Given the description of an element on the screen output the (x, y) to click on. 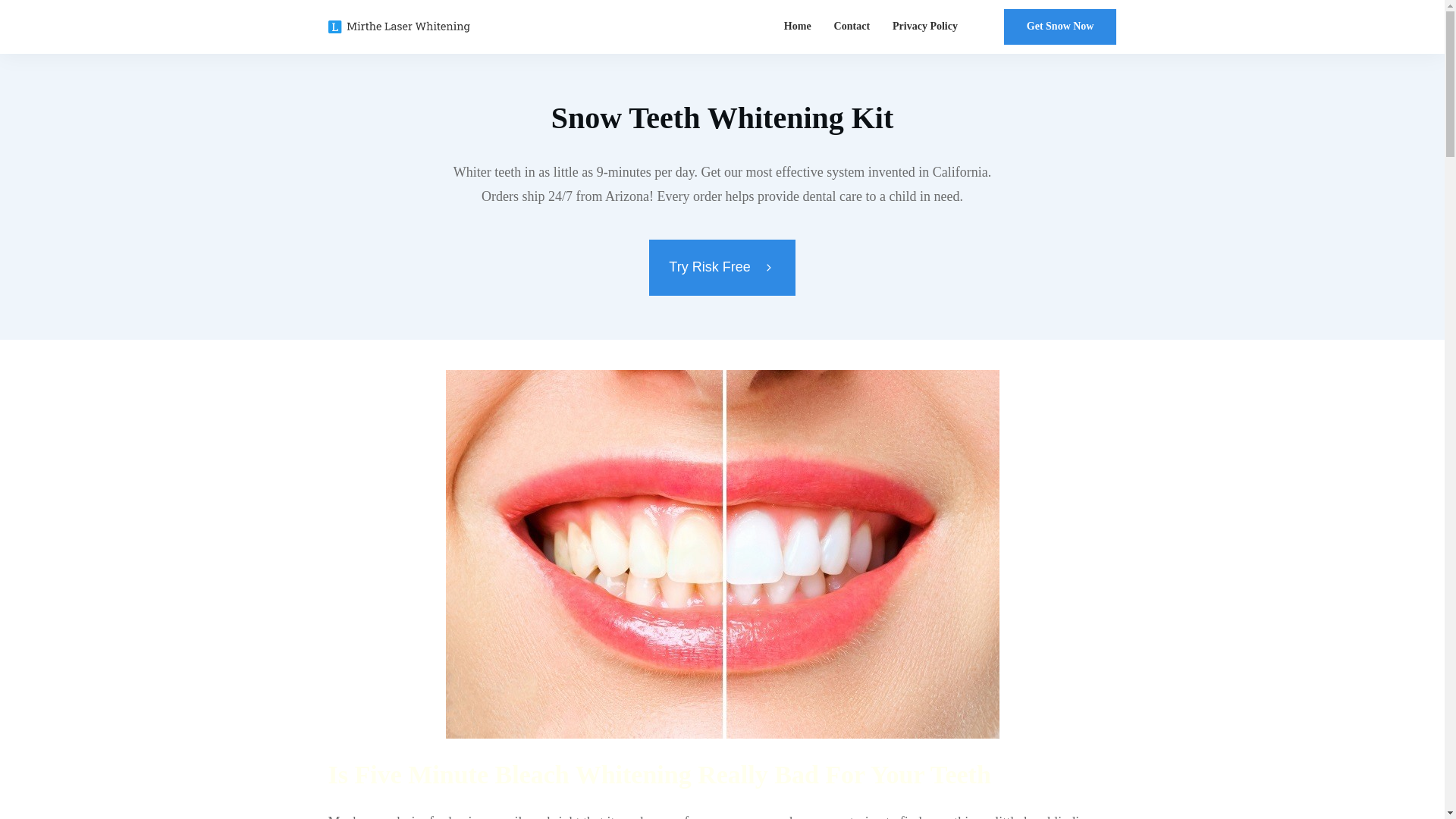
Home (797, 25)
Get Snow Now (1060, 27)
Try Risk Free (721, 267)
Privacy Policy (925, 25)
Contact (851, 25)
